Given the description of an element on the screen output the (x, y) to click on. 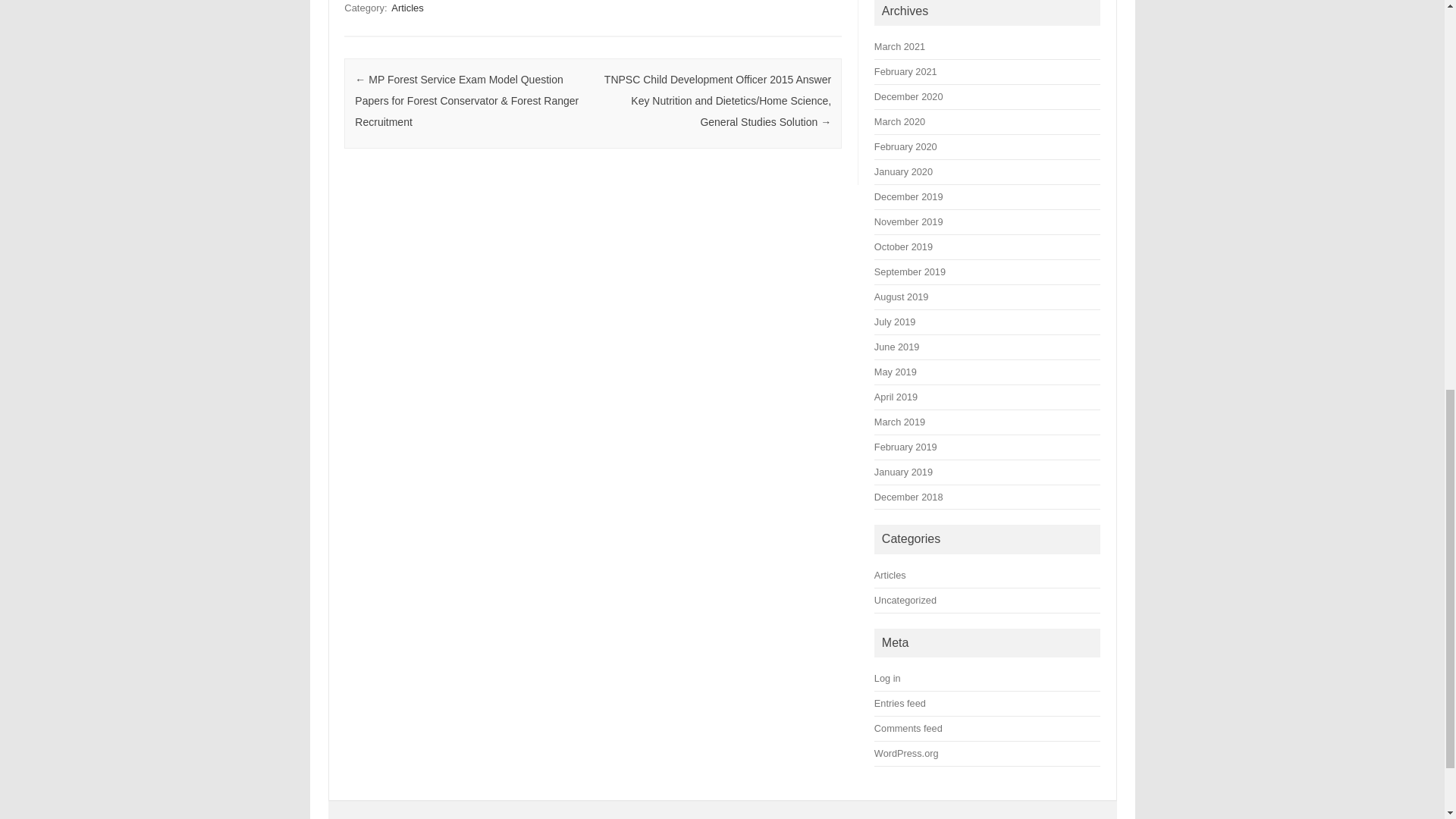
December 2018 (909, 496)
January 2019 (904, 471)
September 2019 (909, 271)
December 2019 (909, 196)
May 2019 (896, 371)
February 2019 (906, 446)
August 2019 (901, 296)
April 2019 (896, 396)
February 2021 (906, 71)
March 2019 (899, 421)
March 2021 (899, 46)
February 2020 (906, 146)
December 2020 (909, 96)
Articles (407, 7)
July 2019 (895, 321)
